Given the description of an element on the screen output the (x, y) to click on. 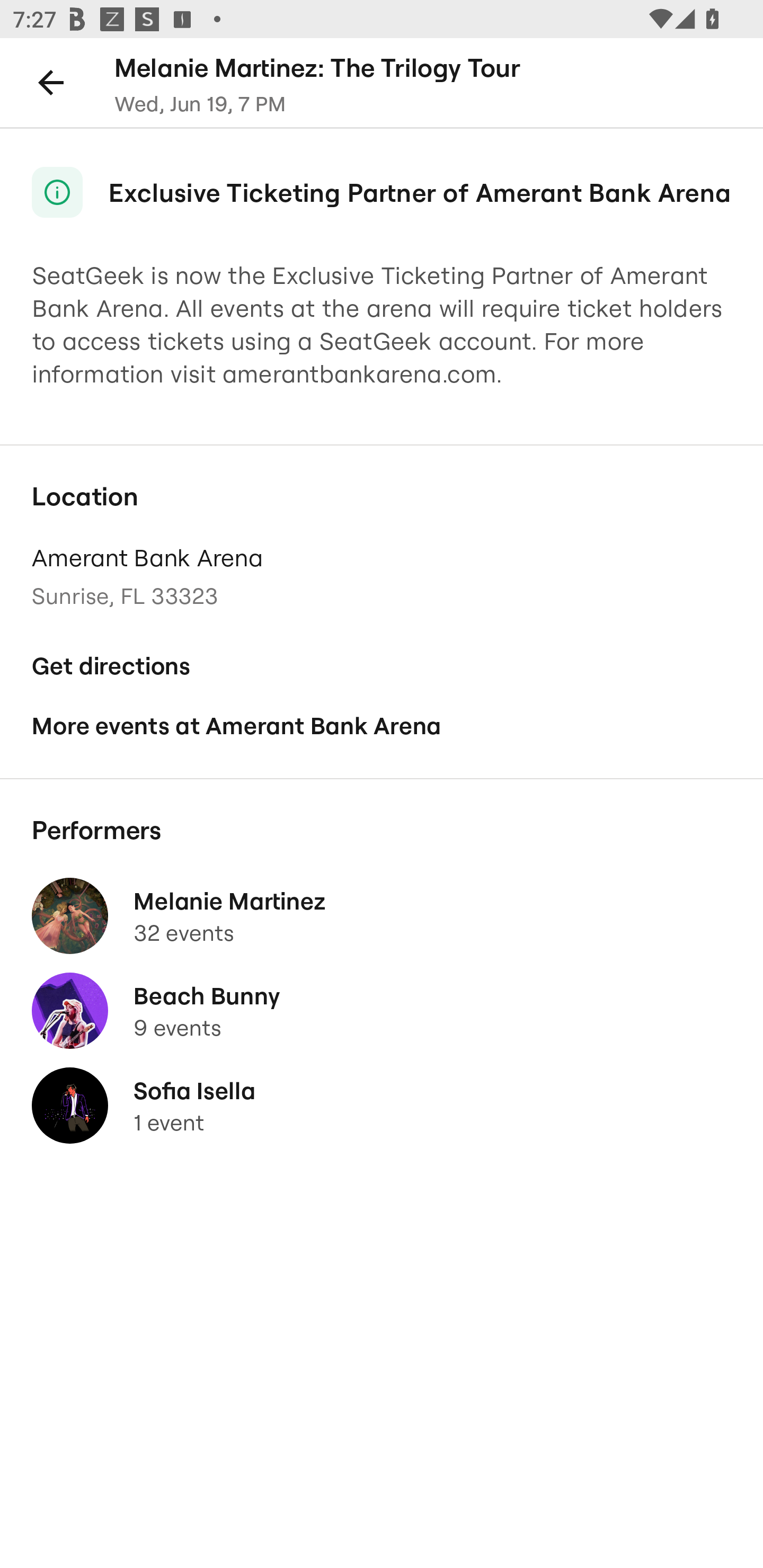
Back (50, 81)
Get directions (381, 666)
More events at Amerant Bank Arena (381, 725)
Melanie Martinez 32 events (381, 916)
Beach Bunny 9 events (381, 1011)
Sofia Isella 1 event (381, 1105)
